Given the description of an element on the screen output the (x, y) to click on. 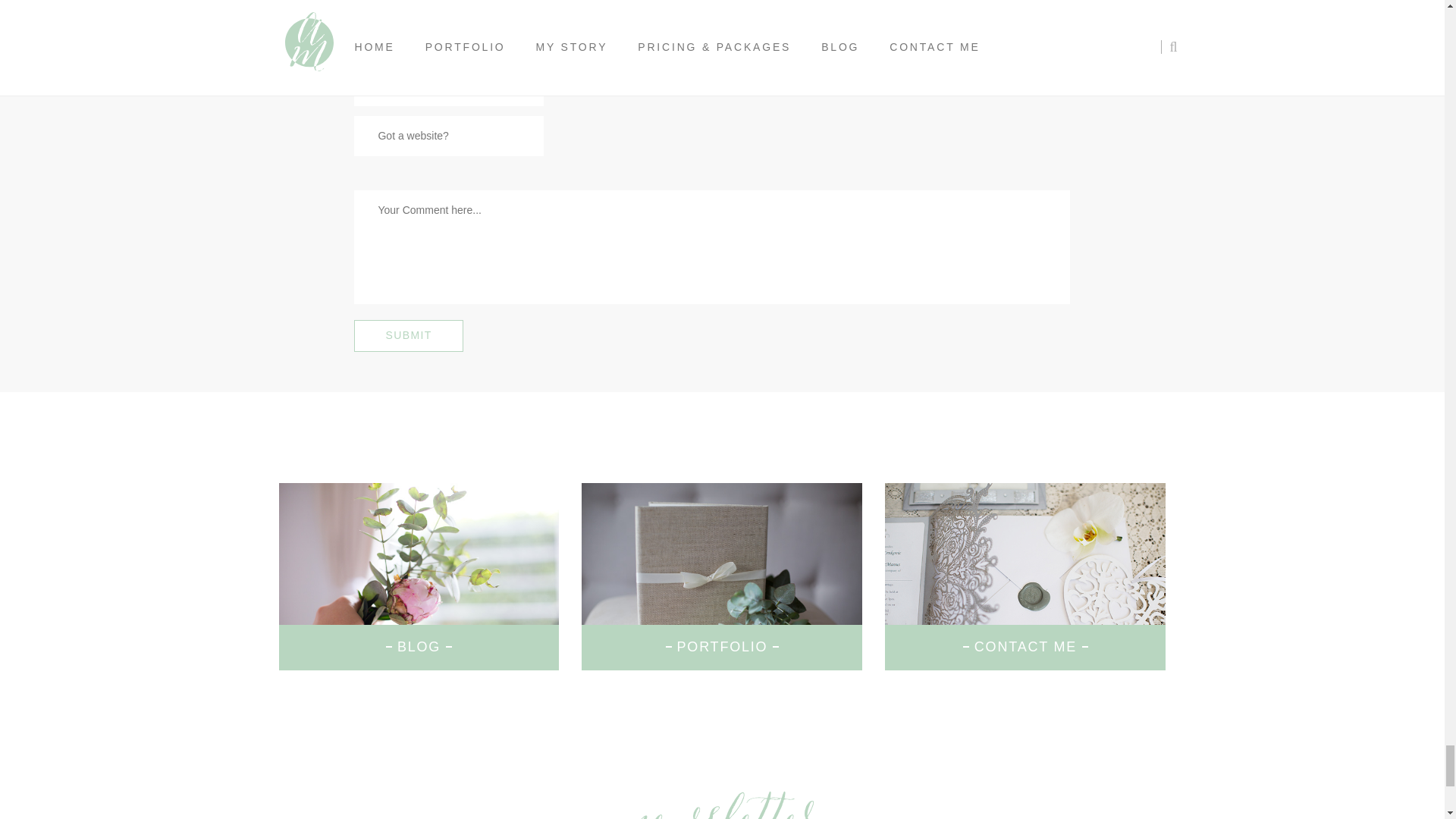
Submit (408, 336)
